Given the description of an element on the screen output the (x, y) to click on. 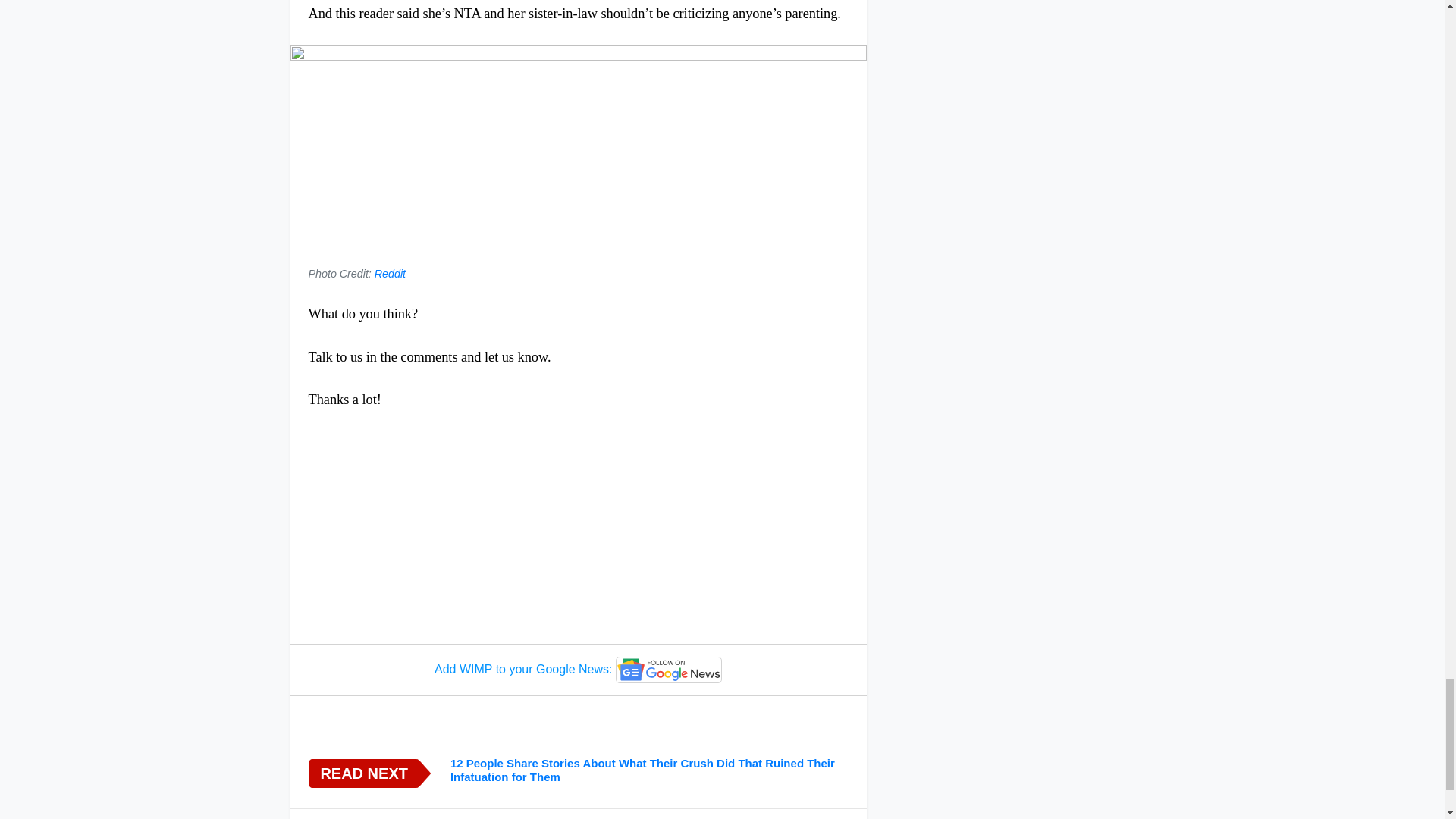
Reddit (390, 273)
Google News (668, 669)
READ NEXT (363, 773)
Add WIMP to your Google News: (577, 669)
